Given the description of an element on the screen output the (x, y) to click on. 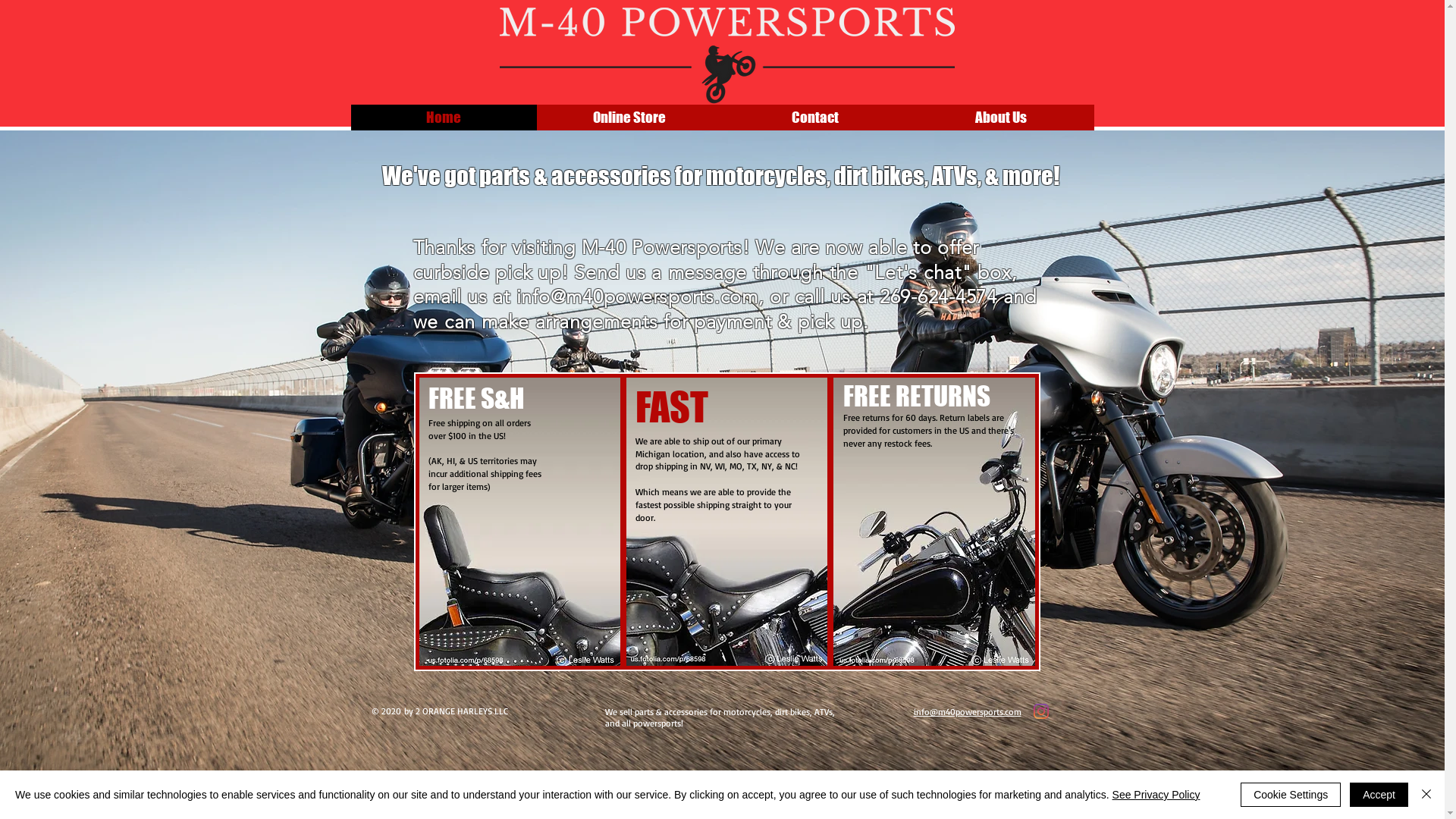
Online Store Element type: text (629, 117)
Leather Studded Motorcycle Passenger Seat Element type: hover (518, 521)
Contact Element type: text (814, 117)
Accept Element type: text (1378, 794)
See Privacy Policy Element type: text (1156, 794)
Leather Studded Motorcycle Seat Element type: hover (726, 521)
Home Element type: text (443, 117)
info@m40powersports.com Element type: text (966, 711)
About Us Element type: text (1001, 117)
info@m40powersports.com Element type: text (636, 296)
Cookie Settings Element type: text (1290, 794)
Motorcycle Handlebars & Gas Tank Element type: hover (933, 521)
M-40 Powesports Element type: hover (725, 55)
